Given the description of an element on the screen output the (x, y) to click on. 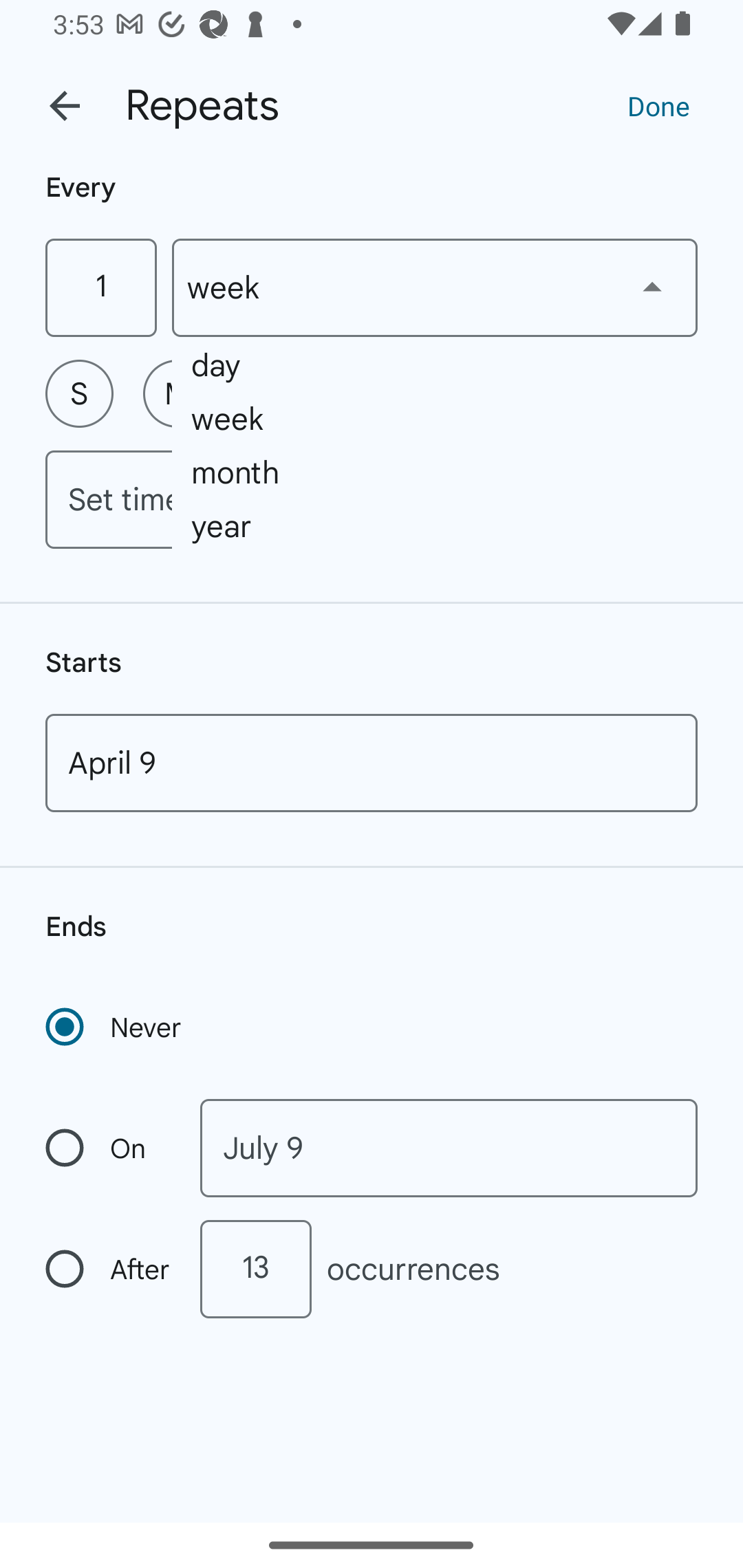
Back (64, 105)
Done (658, 105)
1 (100, 287)
week (434, 287)
Show dropdown menu (652, 286)
S Sunday (79, 393)
Set time (371, 499)
April 9 (371, 762)
Never Recurrence never ends (115, 1026)
July 9 (448, 1148)
On Recurrence ends on a specific date (109, 1148)
13 (255, 1268)
